Given the description of an element on the screen output the (x, y) to click on. 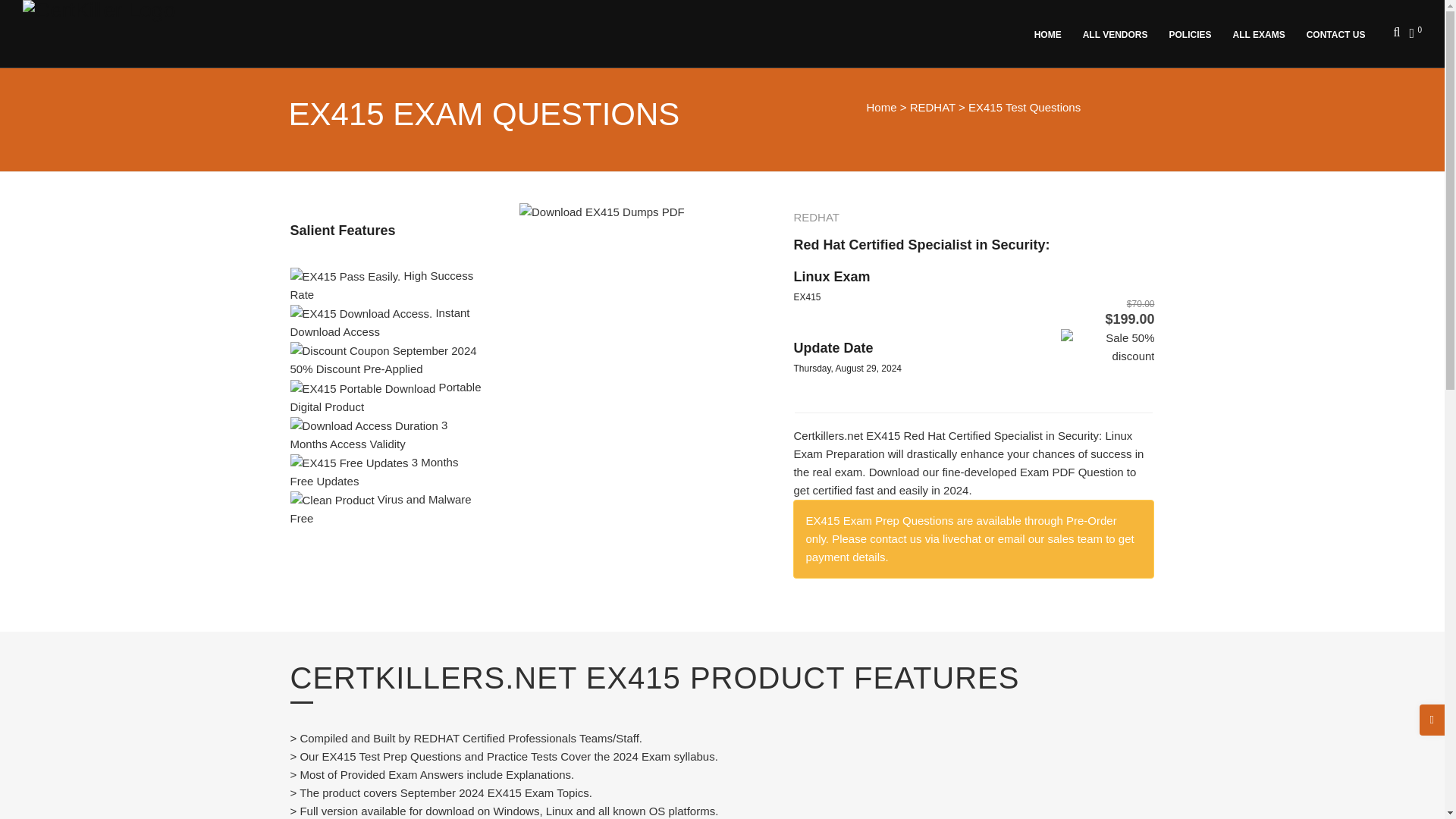
ALL VENDORS (1117, 33)
REDHAT (932, 106)
EX415 September 2024 Practice Test Questions (601, 212)
CONTACT US (1337, 33)
POLICIES (1192, 33)
ALL EXAMS (1261, 33)
Update Date (832, 347)
Home (881, 106)
Red Hat Certified Specialist in Security: Linux Exam (921, 260)
